Given the description of an element on the screen output the (x, y) to click on. 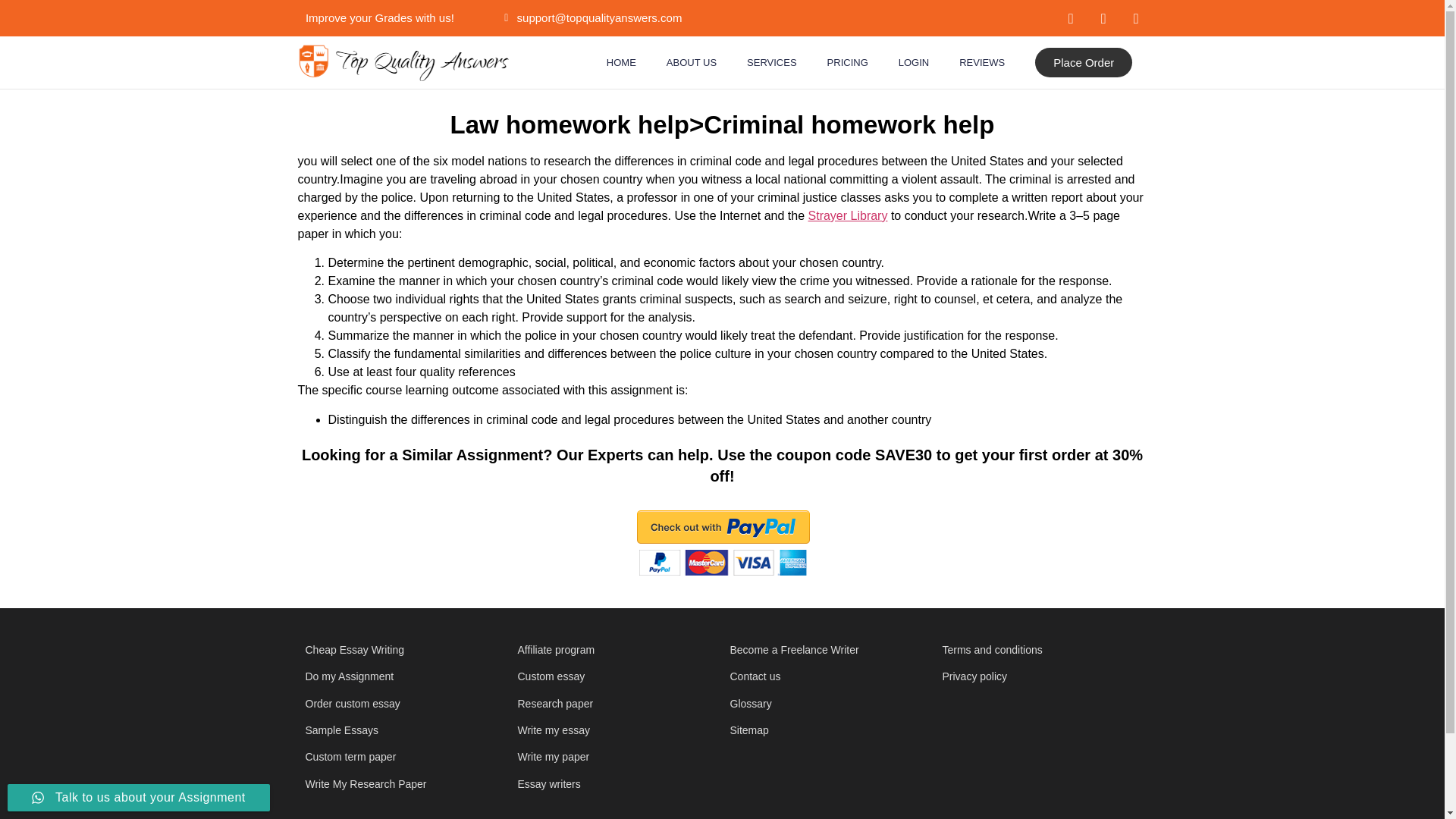
PRICING (847, 62)
REVIEWS (981, 62)
Strayer Library (848, 215)
HOME (620, 62)
SERVICES (772, 62)
ABOUT US (691, 62)
LOGIN (913, 62)
Place Order (1083, 61)
